Given the description of an element on the screen output the (x, y) to click on. 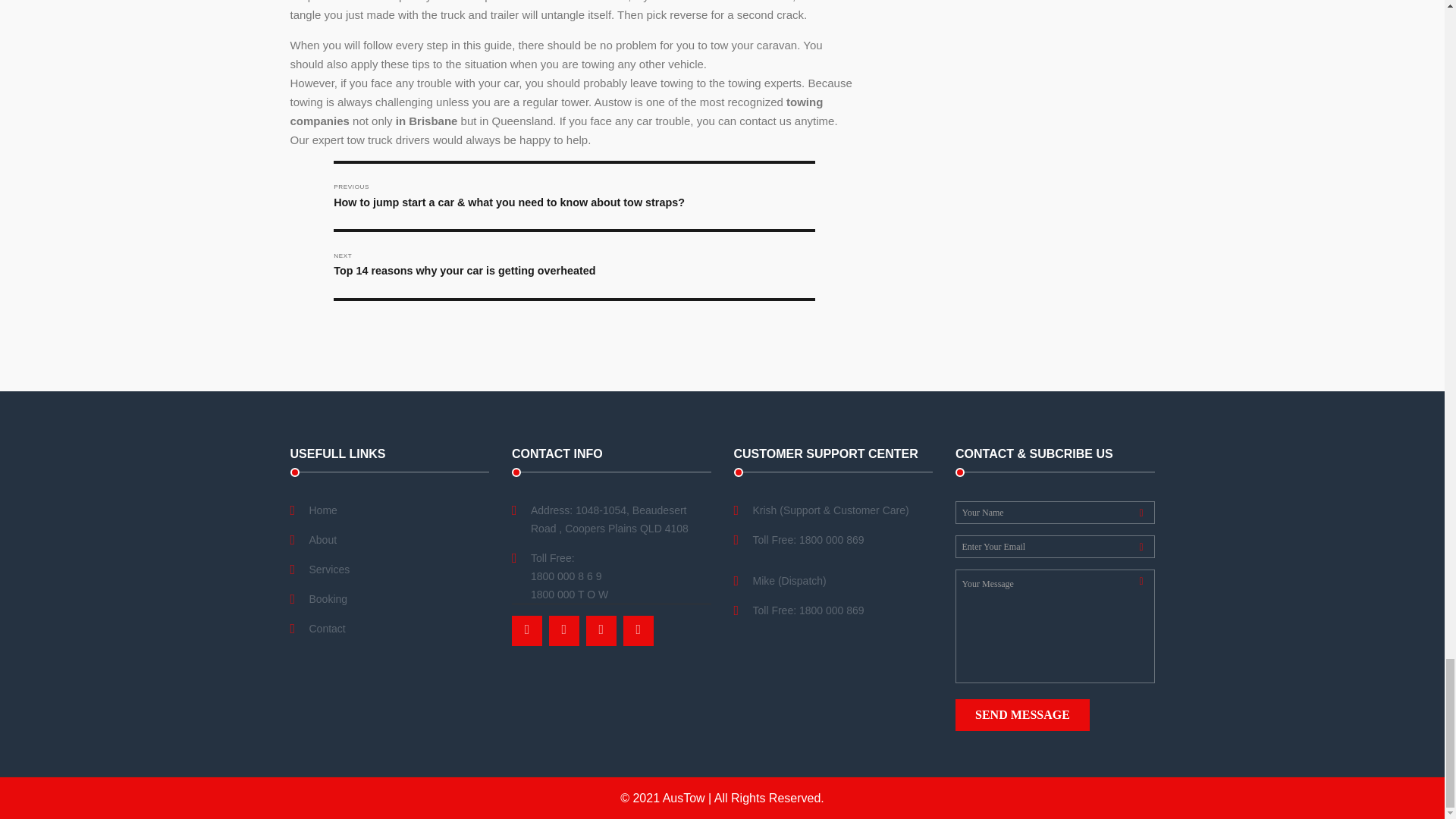
Send Message (1022, 715)
